Given the description of an element on the screen output the (x, y) to click on. 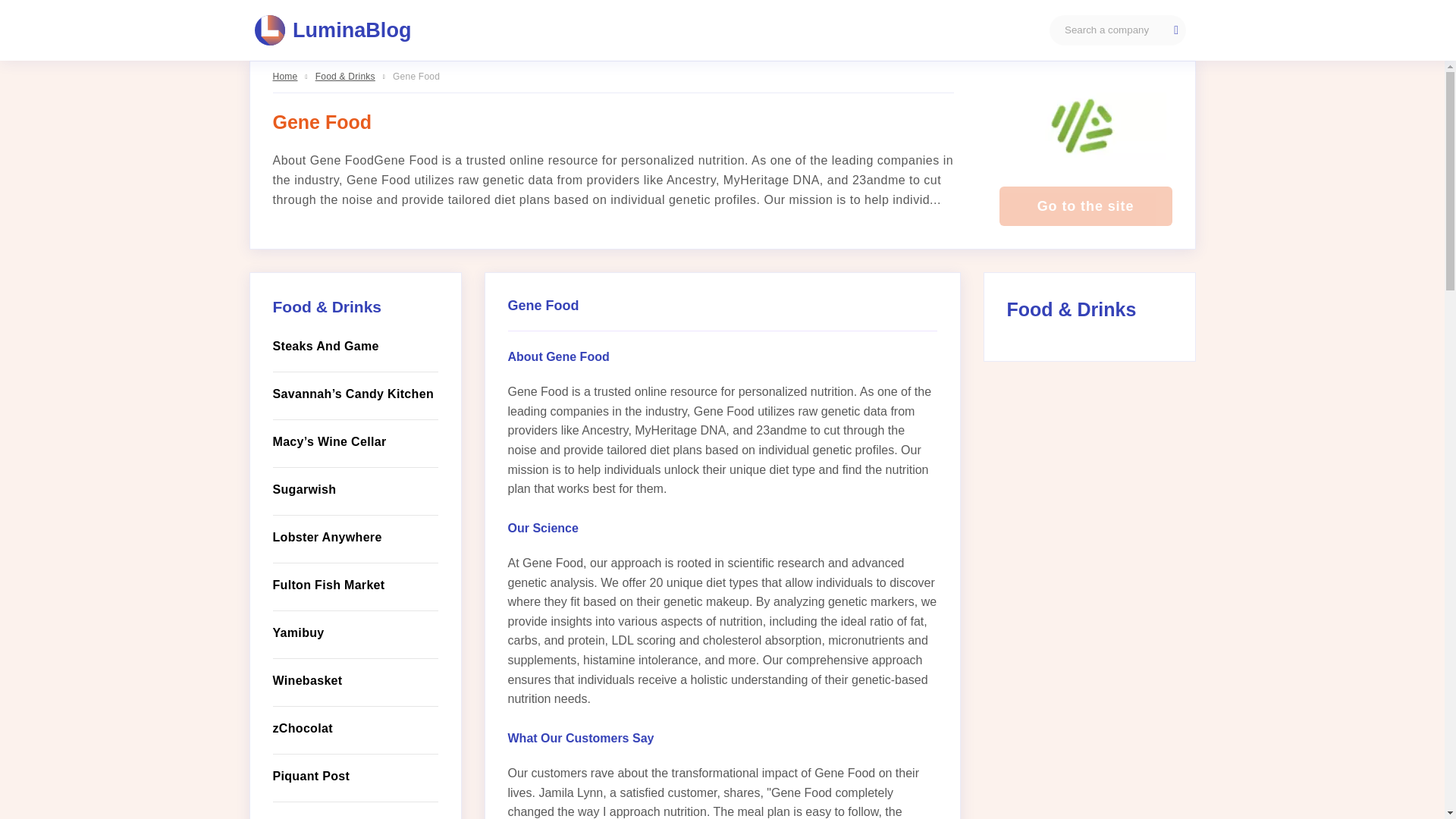
Go to the site (1085, 206)
Yamibuy (355, 632)
LuminaBlog (333, 30)
Fulton Fish Market (355, 585)
Piquant Post (355, 776)
Steaks And Game (355, 346)
Yamibuy (355, 632)
Steaks And Game (355, 346)
Sugarwish (355, 489)
